Given the description of an element on the screen output the (x, y) to click on. 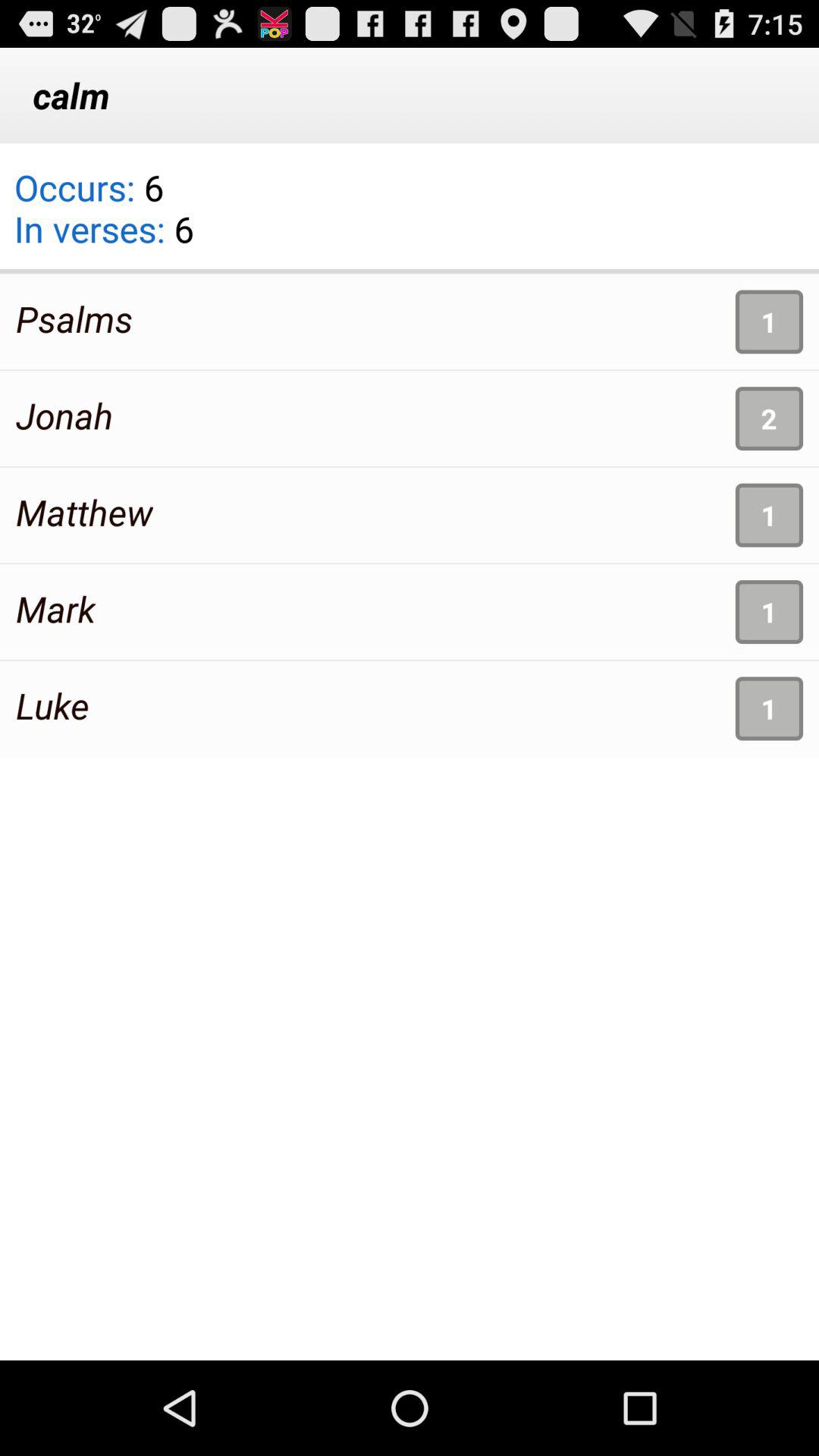
tap mark item (55, 608)
